Given the description of an element on the screen output the (x, y) to click on. 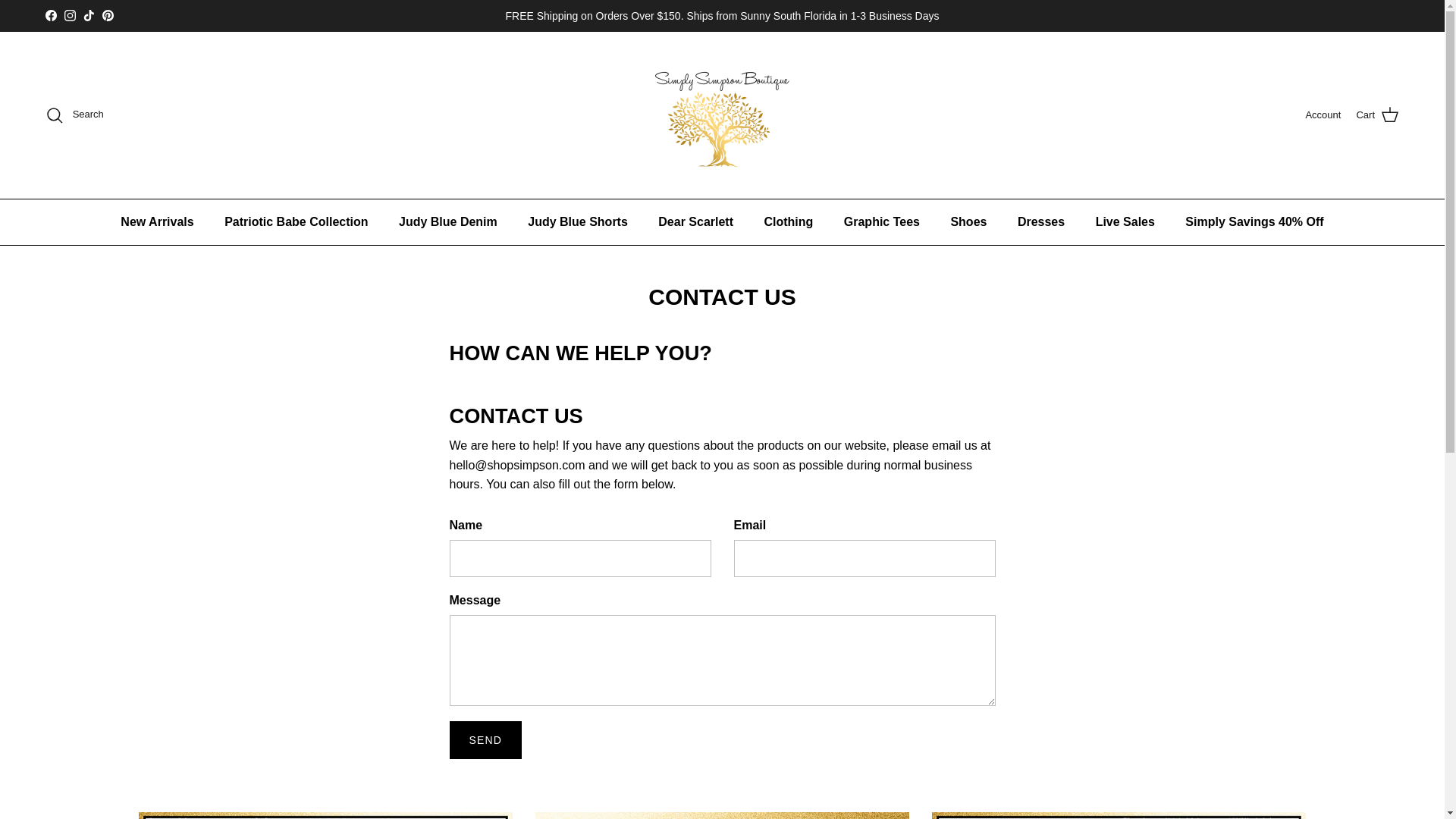
Judy Blue Shorts (577, 221)
Simply Simpson Boutique (721, 114)
Patriotic Babe Collection (296, 221)
TikTok (88, 15)
Pinterest (107, 15)
Judy Blue Denim (448, 221)
Search (74, 115)
Cart (1377, 115)
Simply Simpson Boutique on Instagram (69, 15)
New Arrivals (156, 221)
Simply Simpson Boutique on TikTok (88, 15)
Instagram (69, 15)
Dear Scarlett (695, 221)
Simply Simpson Boutique on Pinterest (107, 15)
Account (1322, 115)
